Given the description of an element on the screen output the (x, y) to click on. 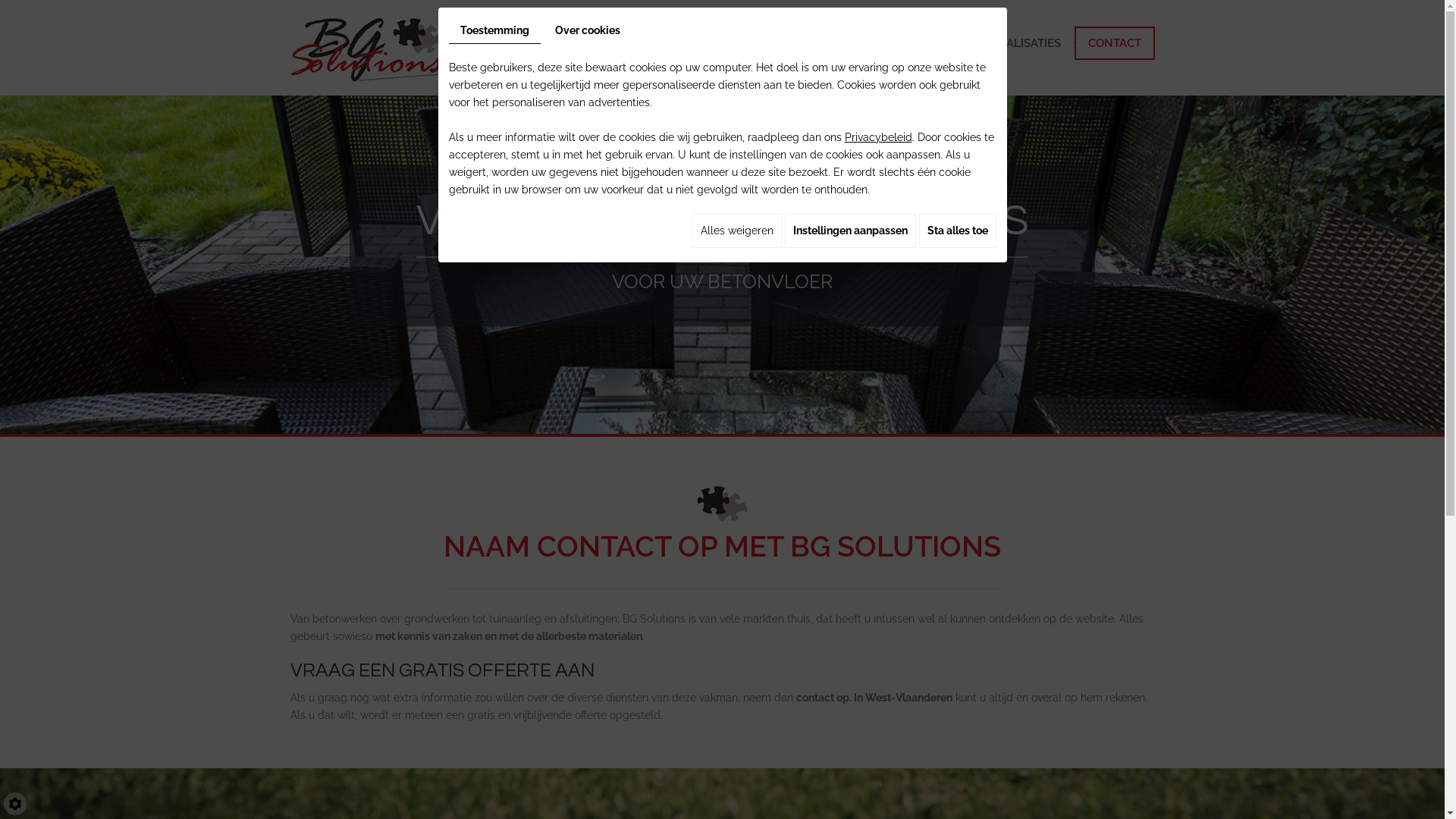
GRONDWERKEN Element type: text (706, 42)
Cookie-instelling bewerken Element type: text (14, 803)
BETONWERKEN Element type: text (590, 42)
REALISATIES Element type: text (1026, 42)
AFSLUITINGEN Element type: text (922, 42)
CONTACT Element type: text (1113, 42)
Privacybeleid Element type: text (878, 137)
Toestemming Element type: text (494, 30)
HOME Element type: text (501, 42)
Over cookies Element type: text (586, 30)
TUINAANLEG Element type: text (817, 42)
Instellingen aanpassen Element type: text (849, 230)
Alles weigeren Element type: text (736, 230)
BG Solutions Element type: hover (374, 49)
Sta alles toe Element type: text (957, 230)
